Given the description of an element on the screen output the (x, y) to click on. 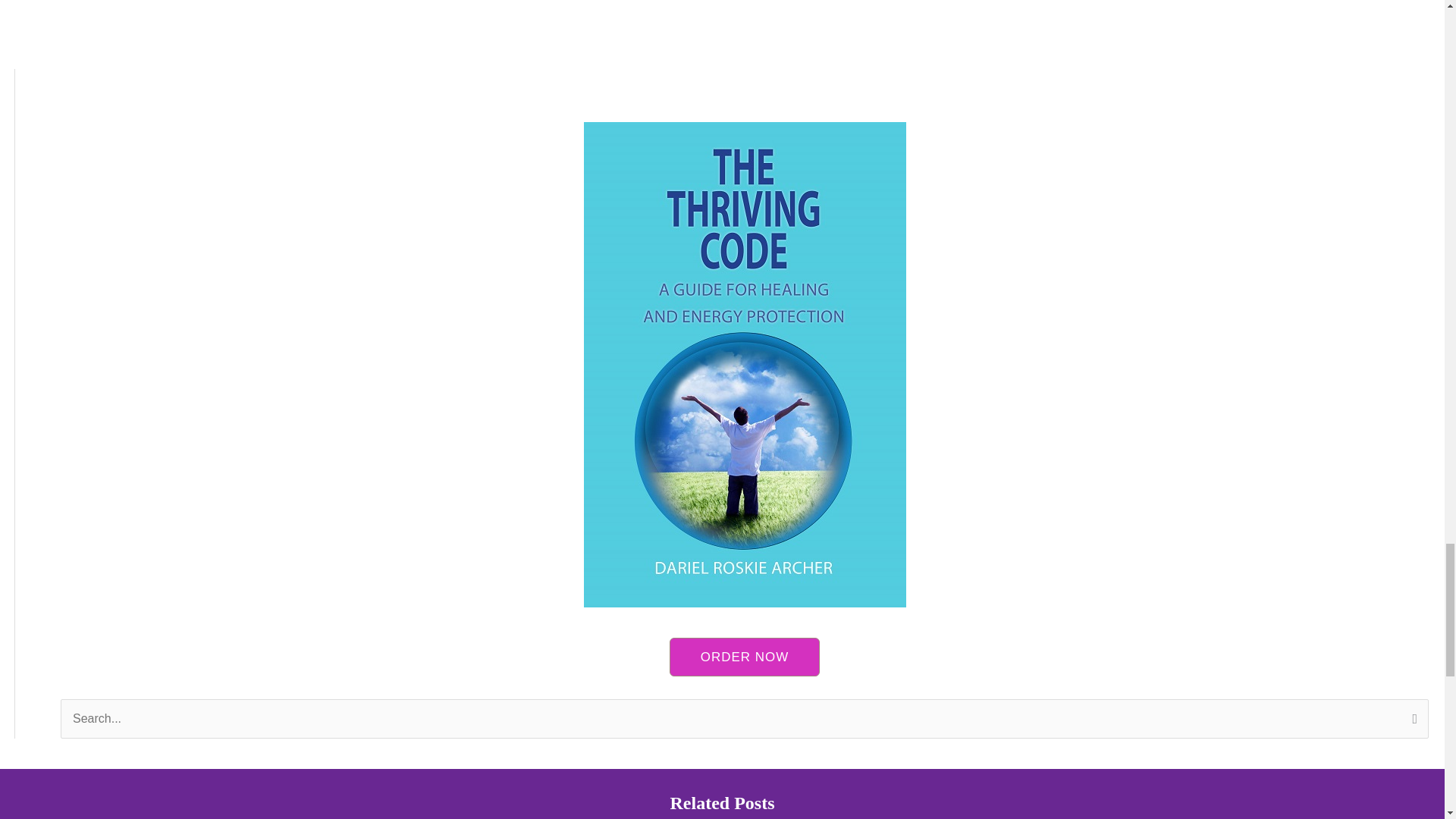
Click Here (744, 657)
ORDER NOW (744, 657)
